Given the description of an element on the screen output the (x, y) to click on. 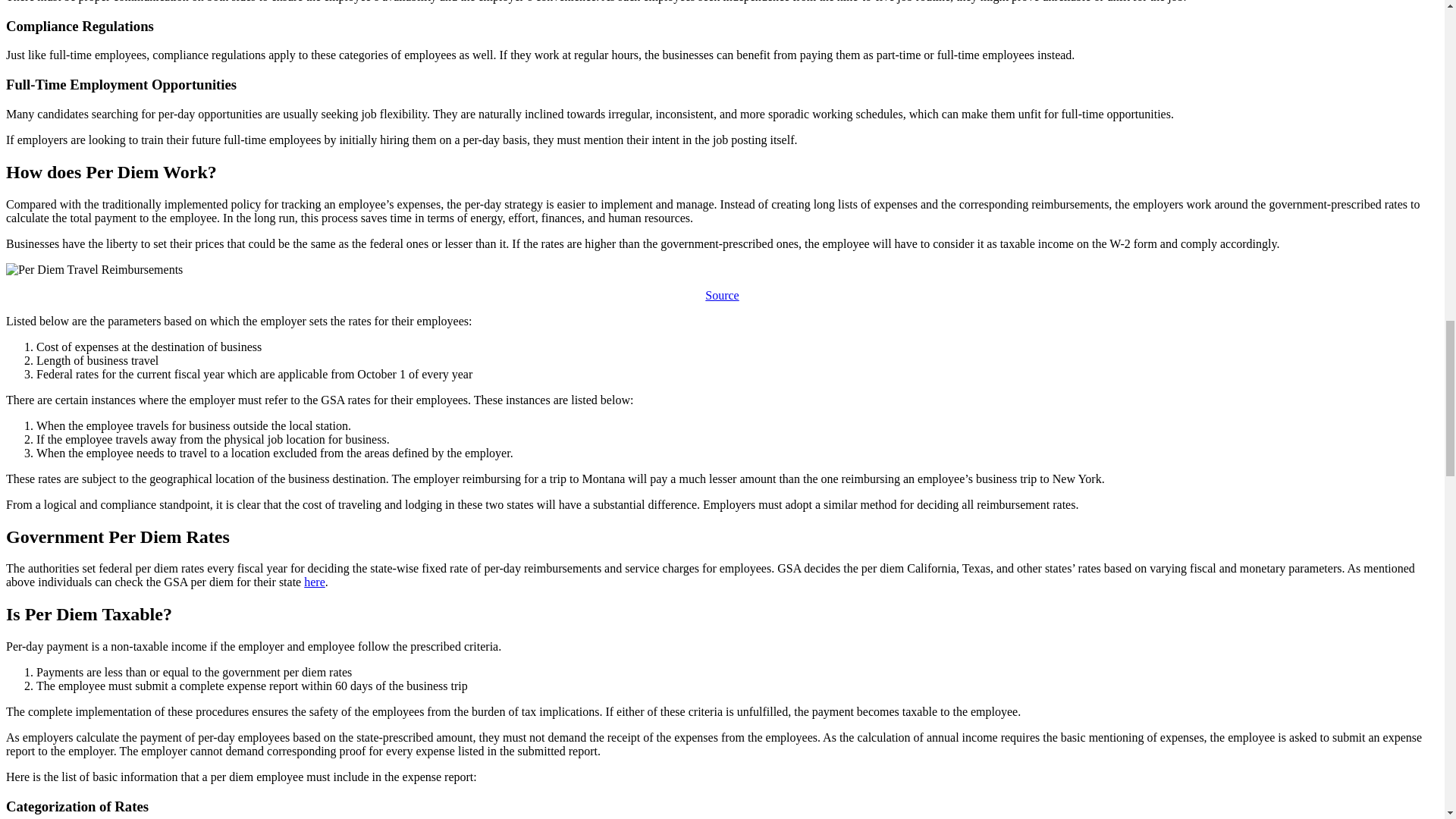
here (314, 581)
Source (721, 295)
